Given the description of an element on the screen output the (x, y) to click on. 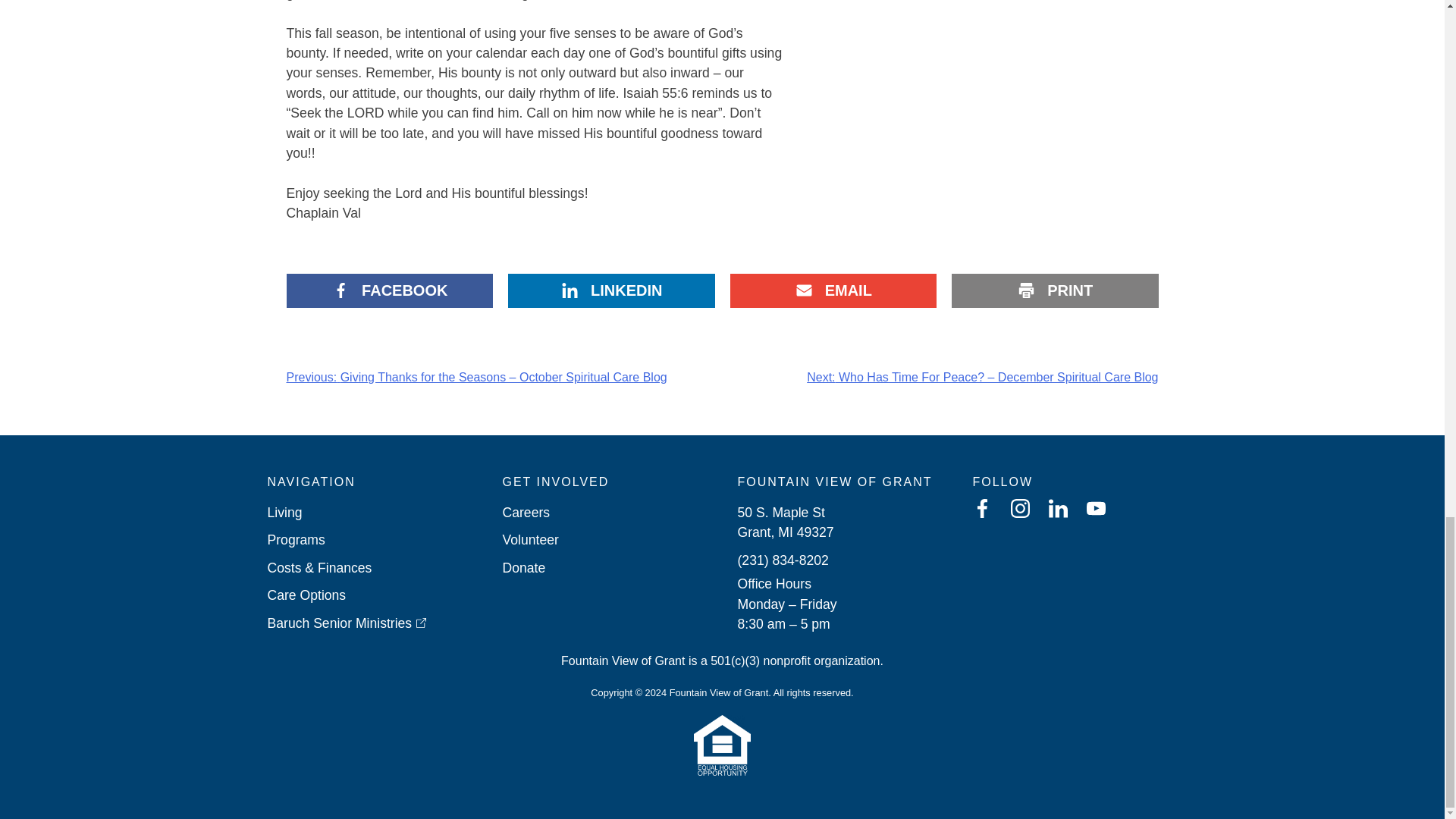
LINKEDIN (611, 290)
FACEBOOK (389, 290)
facebook icon (981, 507)
linkedin icon (1057, 507)
youtube icon (1095, 507)
EMAIL (832, 290)
PRINT (1055, 290)
instagram icon (1019, 507)
